Given the description of an element on the screen output the (x, y) to click on. 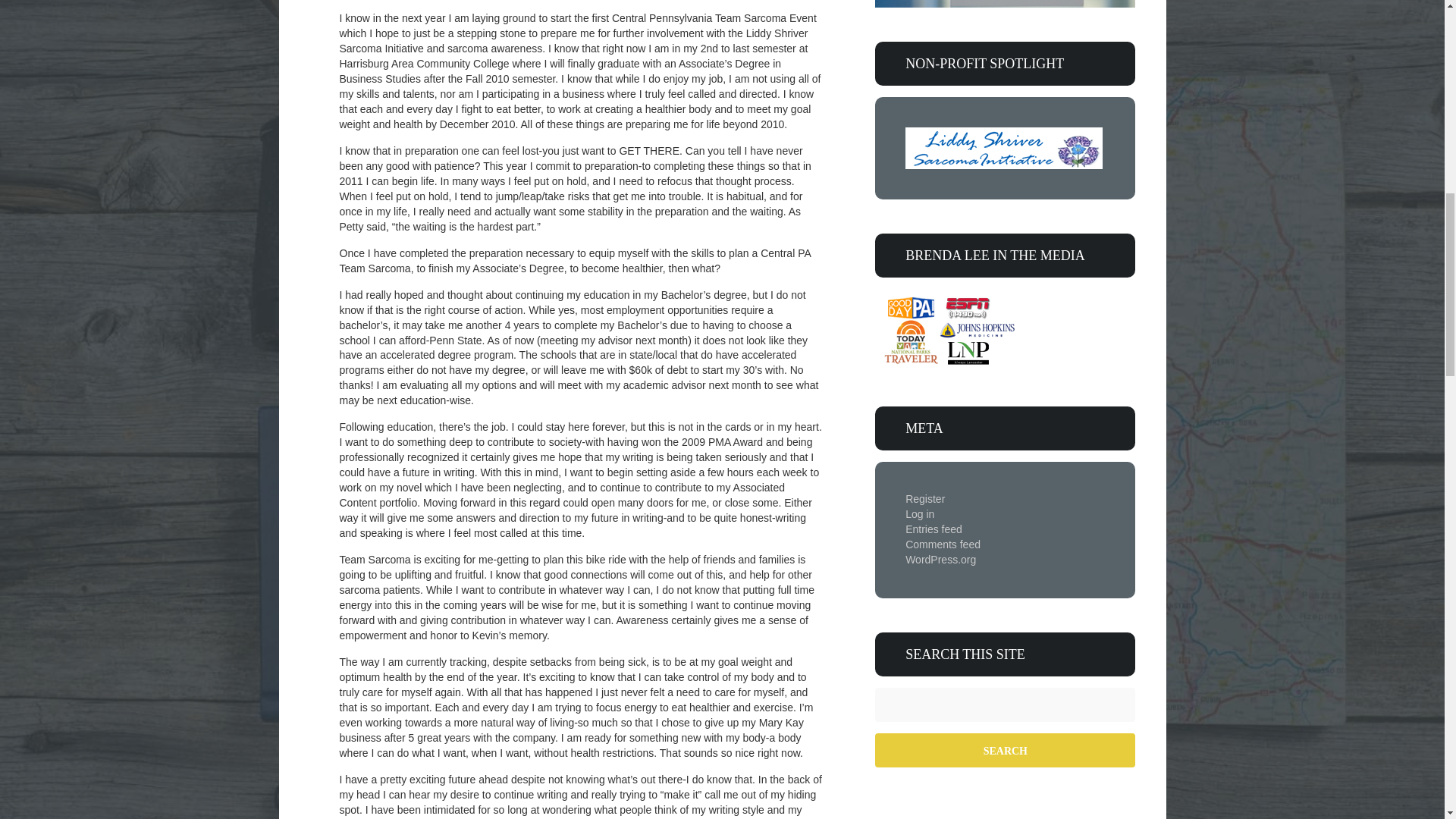
Search (1005, 750)
